Given the description of an element on the screen output the (x, y) to click on. 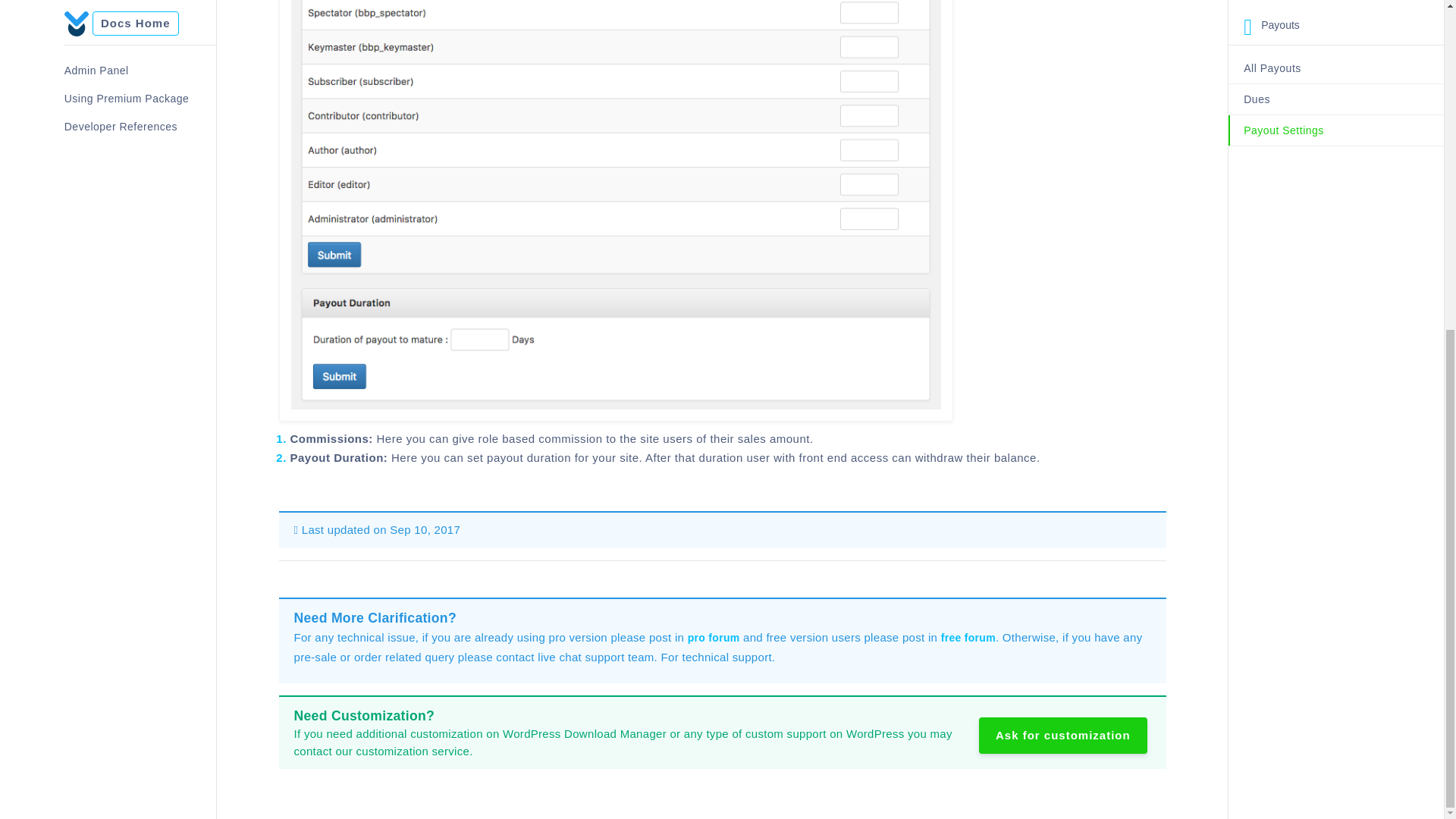
pro forum (713, 636)
free forum (967, 636)
Ask for customization (1062, 735)
